Given the description of an element on the screen output the (x, y) to click on. 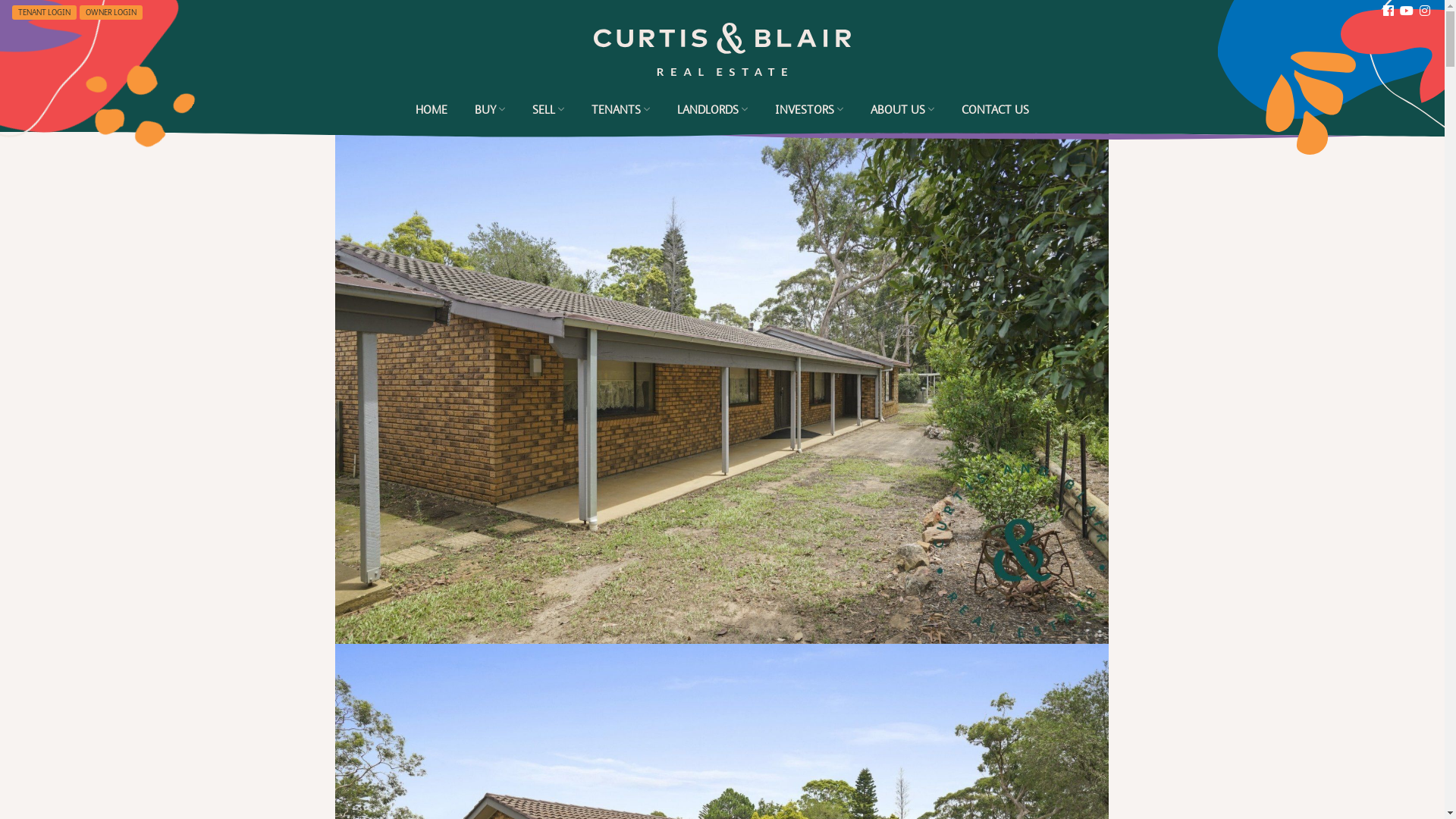
TENANT LOGIN Element type: text (44, 12)
HOME Element type: text (431, 109)
LANDLORDS Element type: text (712, 109)
CONTACT US Element type: text (995, 109)
SELL Element type: text (548, 109)
TENANTS Element type: text (620, 109)
INVESTORS Element type: text (808, 109)
ABOUT US Element type: text (902, 109)
Send Message Element type: text (732, 318)
BUY Element type: text (489, 109)
OWNER LOGIN Element type: text (110, 12)
